Given the description of an element on the screen output the (x, y) to click on. 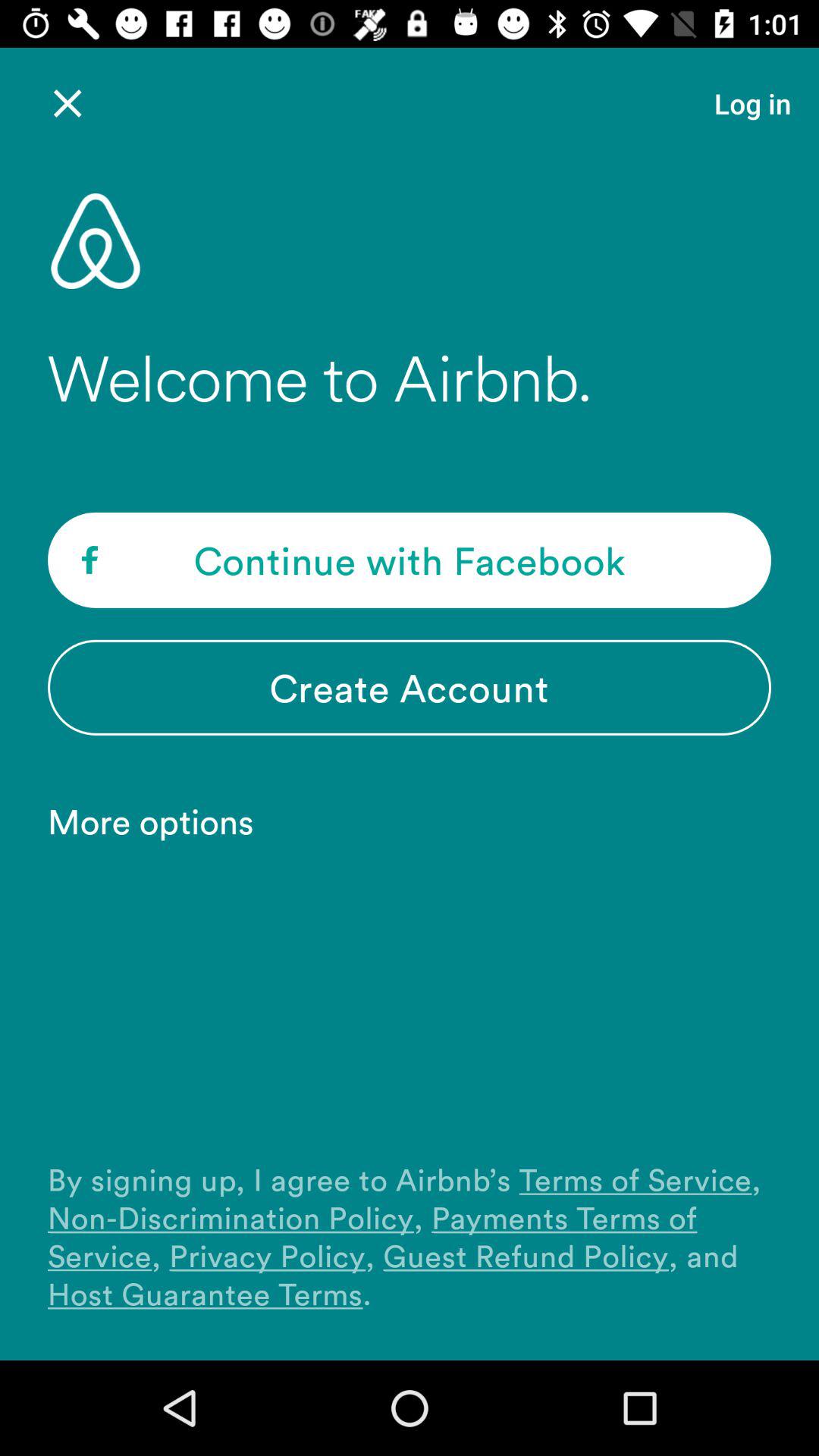
turn off the log in (752, 103)
